Given the description of an element on the screen output the (x, y) to click on. 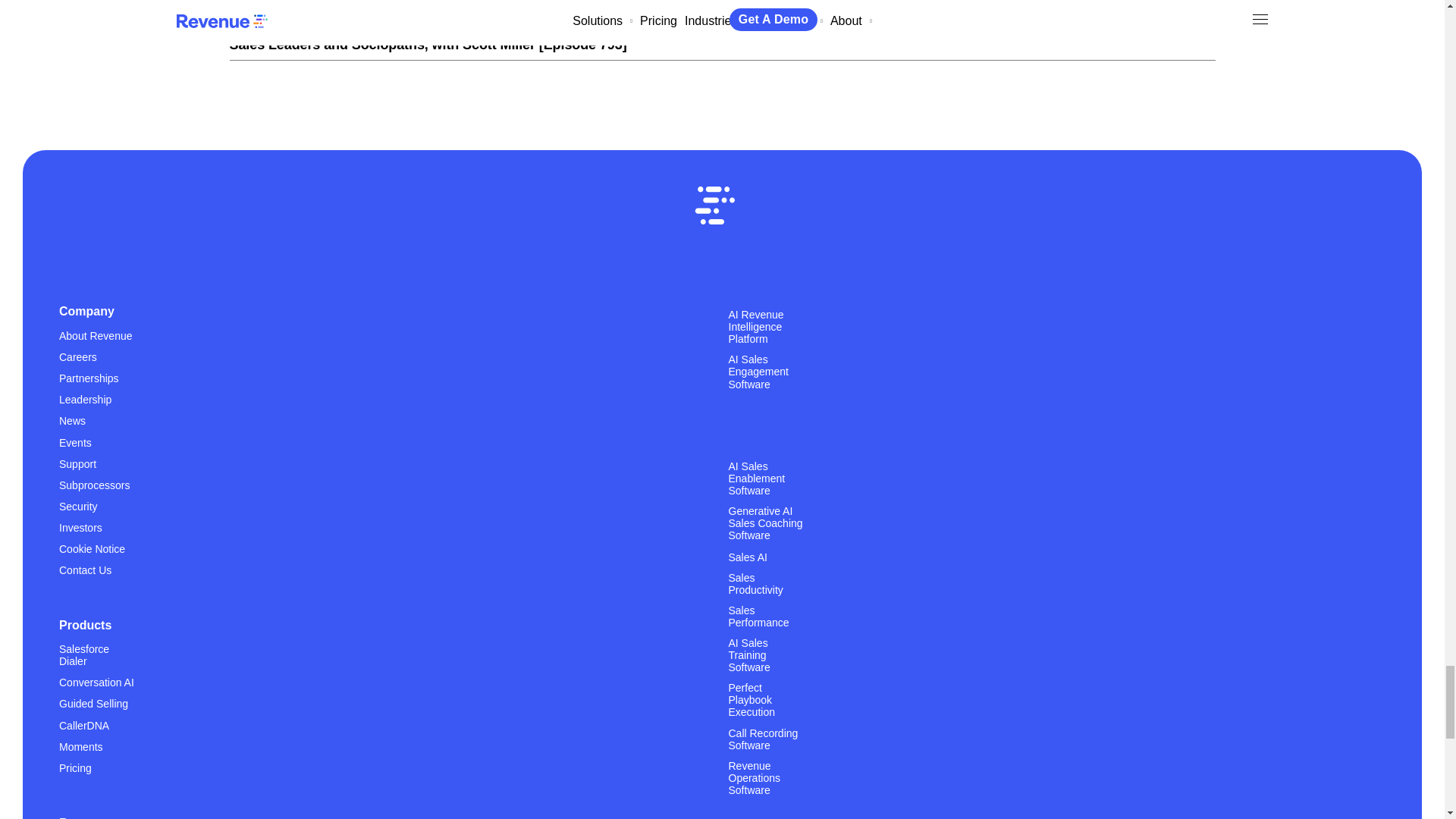
Guided Selling (93, 703)
Leadership (85, 399)
Security (78, 505)
CallerDNA (84, 725)
Salesforce Dialer (97, 660)
About Revenue (95, 335)
Partnerships (89, 377)
Pricing (75, 767)
Investors (80, 526)
Subprocessors (94, 484)
